Given the description of an element on the screen output the (x, y) to click on. 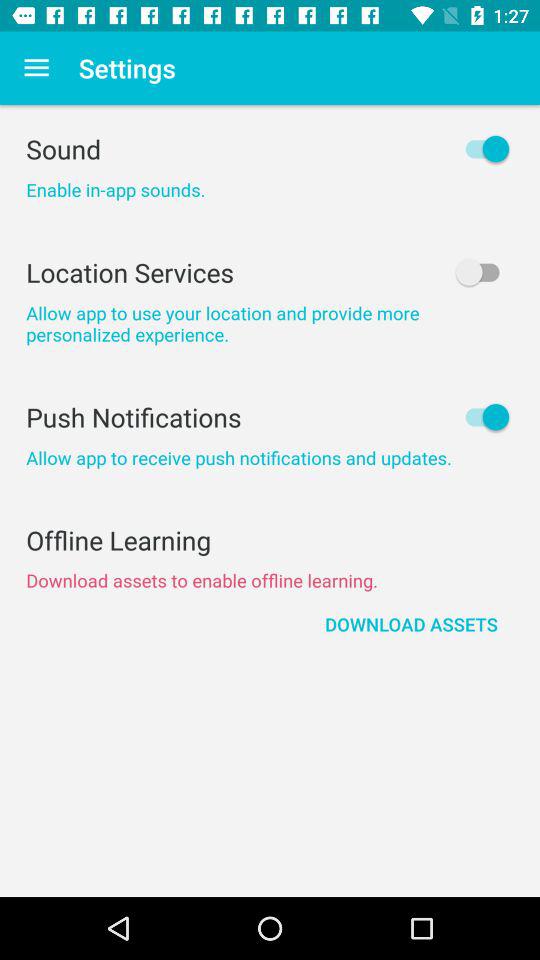
click icon next to settings (36, 68)
